Given the description of an element on the screen output the (x, y) to click on. 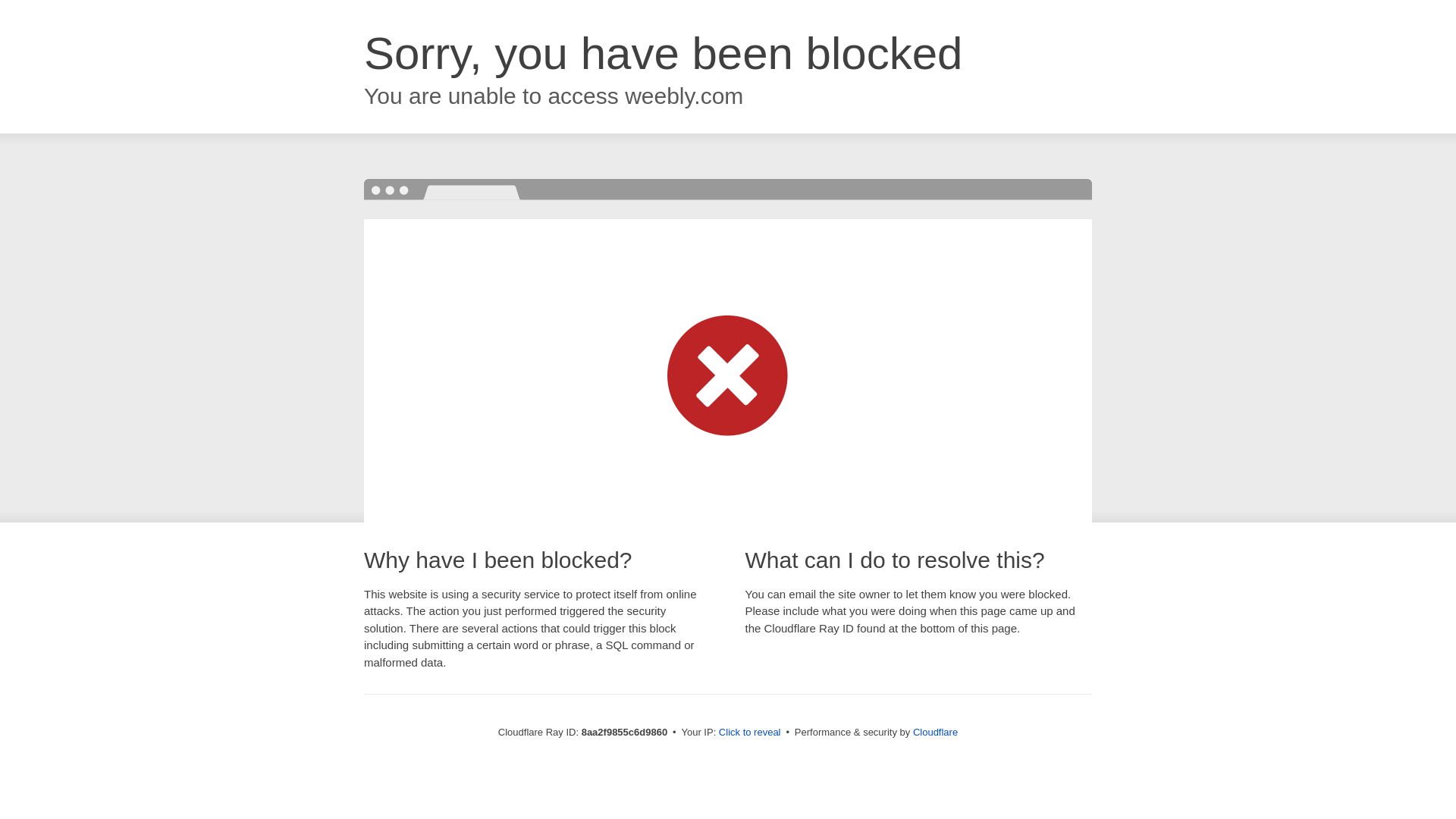
Cloudflare (935, 731)
Click to reveal (749, 732)
